Given the description of an element on the screen output the (x, y) to click on. 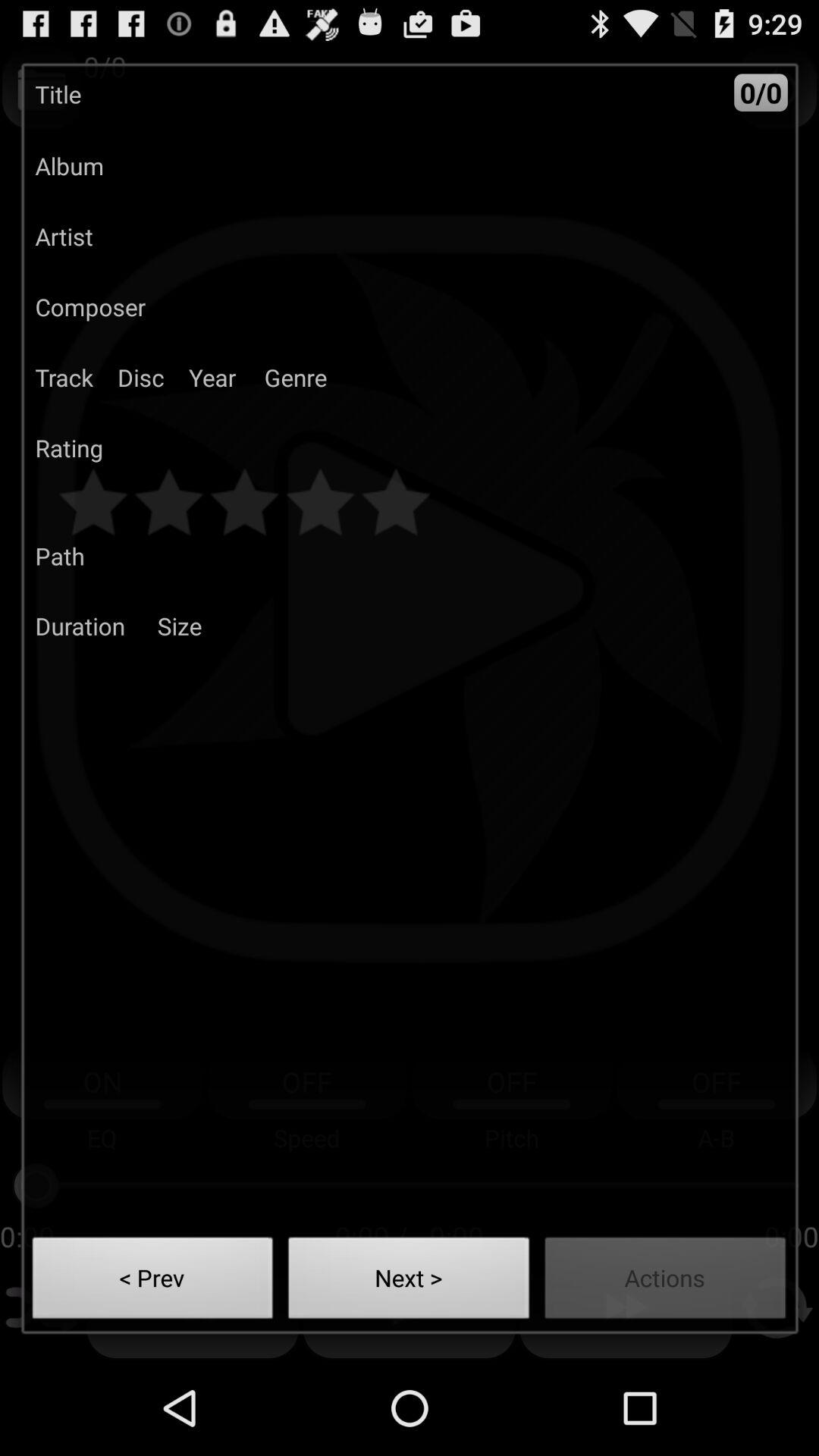
choose icon to the right of < prev button (408, 1282)
